Given the description of an element on the screen output the (x, y) to click on. 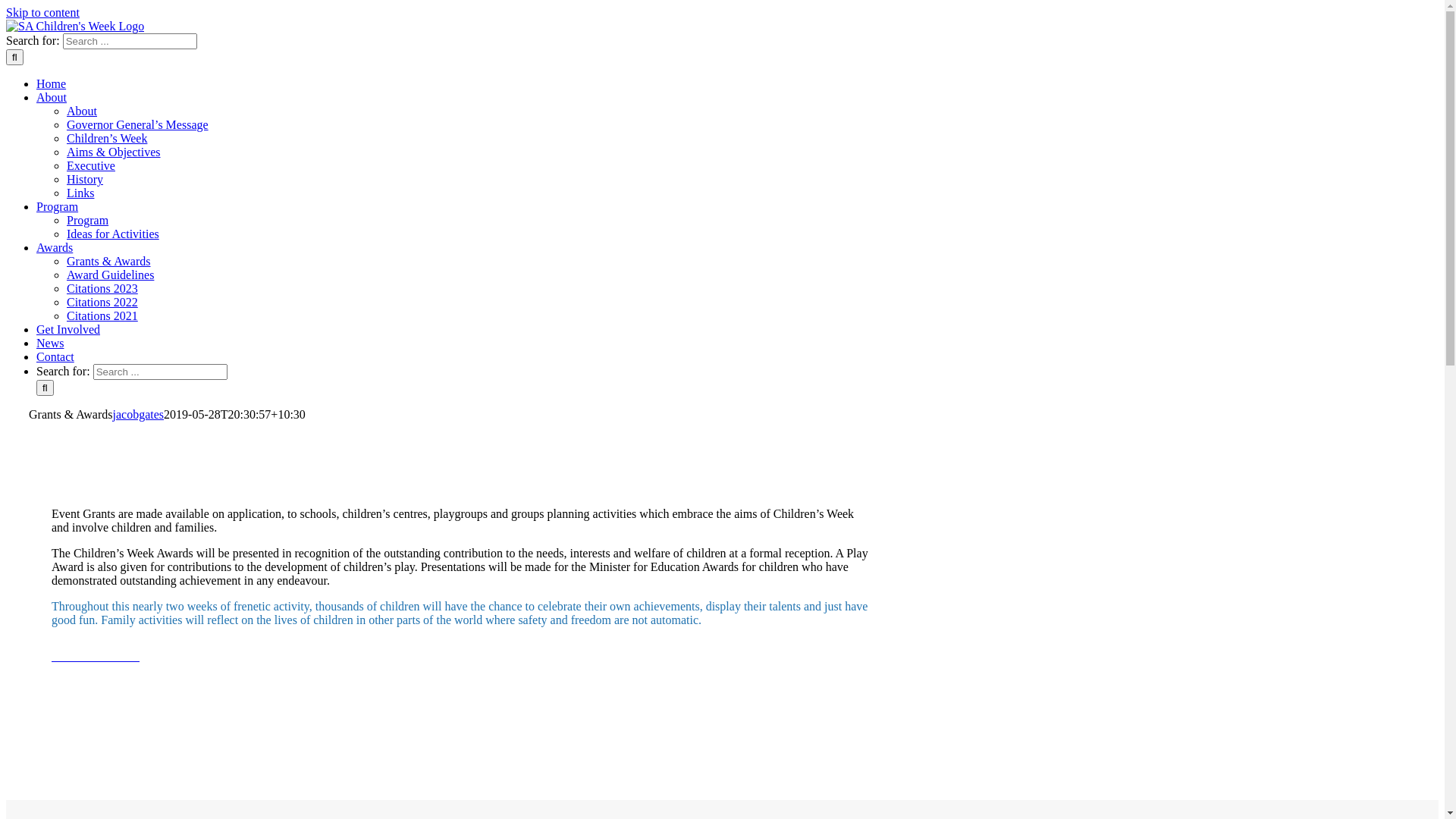
Program Element type: text (57, 206)
News Element type: text (49, 342)
Awards Element type: text (54, 247)
About Element type: text (51, 97)
Citations 2021 Element type: text (102, 315)
Program Element type: text (87, 219)
Executive Element type: text (90, 165)
History Element type: text (84, 178)
Citations 2023 Element type: text (102, 288)
Award Guidelines Element type: text (109, 274)
About Element type: text (81, 110)
Home Element type: text (50, 83)
Grants & Awards Element type: text (108, 260)
Get Involved Element type: text (68, 329)
Contact Element type: text (55, 356)
jacobgates Element type: text (138, 413)
GET INVOLVED Element type: text (95, 655)
Links Element type: text (80, 192)
Aims & Objectives Element type: text (113, 151)
Ideas for Activities Element type: text (112, 233)
Skip to content Element type: text (42, 12)
Citations 2022 Element type: text (102, 301)
